Given the description of an element on the screen output the (x, y) to click on. 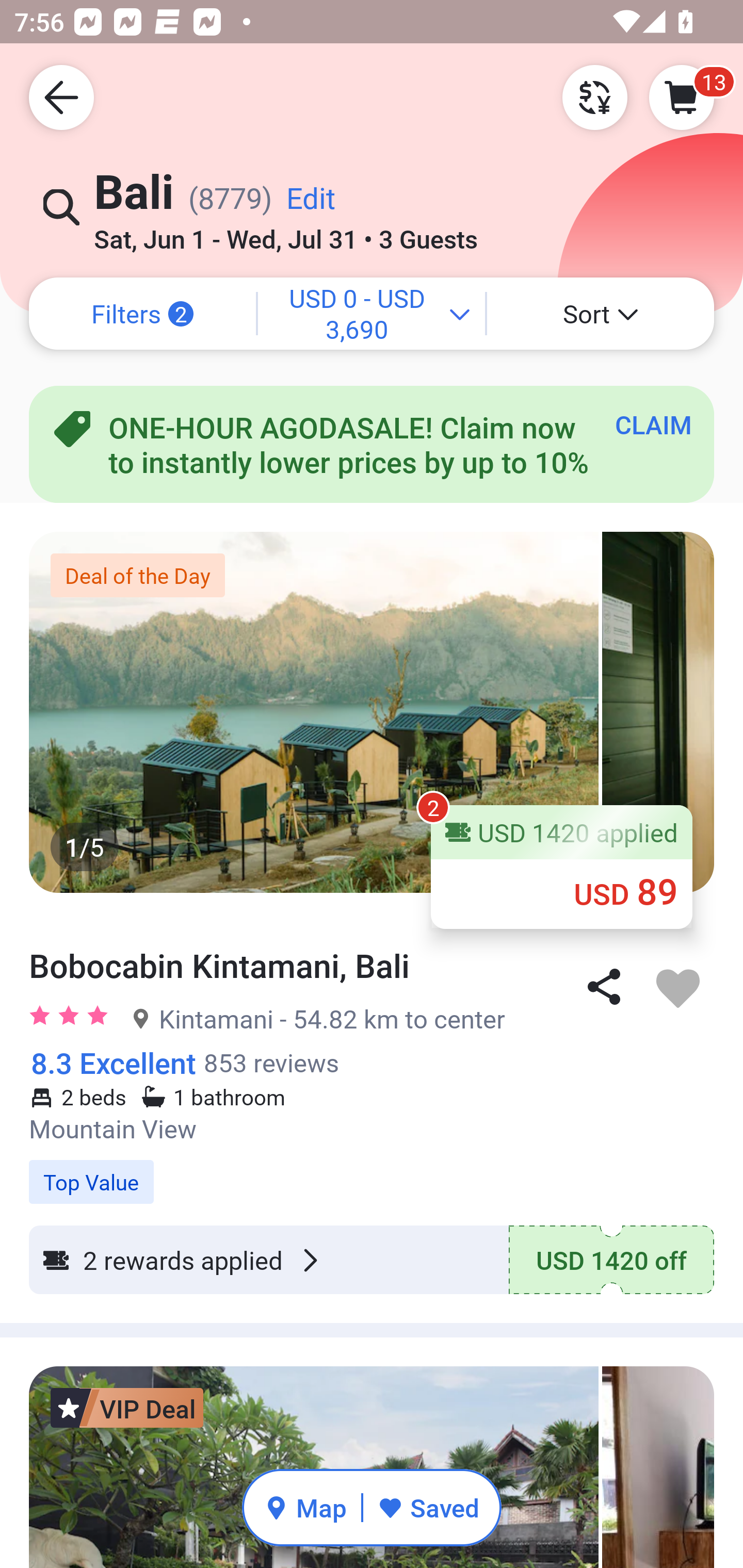
Filters 2 (141, 313)
⁦USD 0⁩ - ⁦USD 3,690⁩ (371, 313)
Sort (600, 313)
CLAIM (653, 424)
1/5 (371, 711)
Deal of the Day (137, 575)
USD 1420 applied ‪USD 89 2 (561, 866)
Top Value (371, 1171)
2 rewards applied USD 1420 off (371, 1259)
VIP Deal (126, 1407)
Map (305, 1507)
Saved (428, 1507)
